Given the description of an element on the screen output the (x, y) to click on. 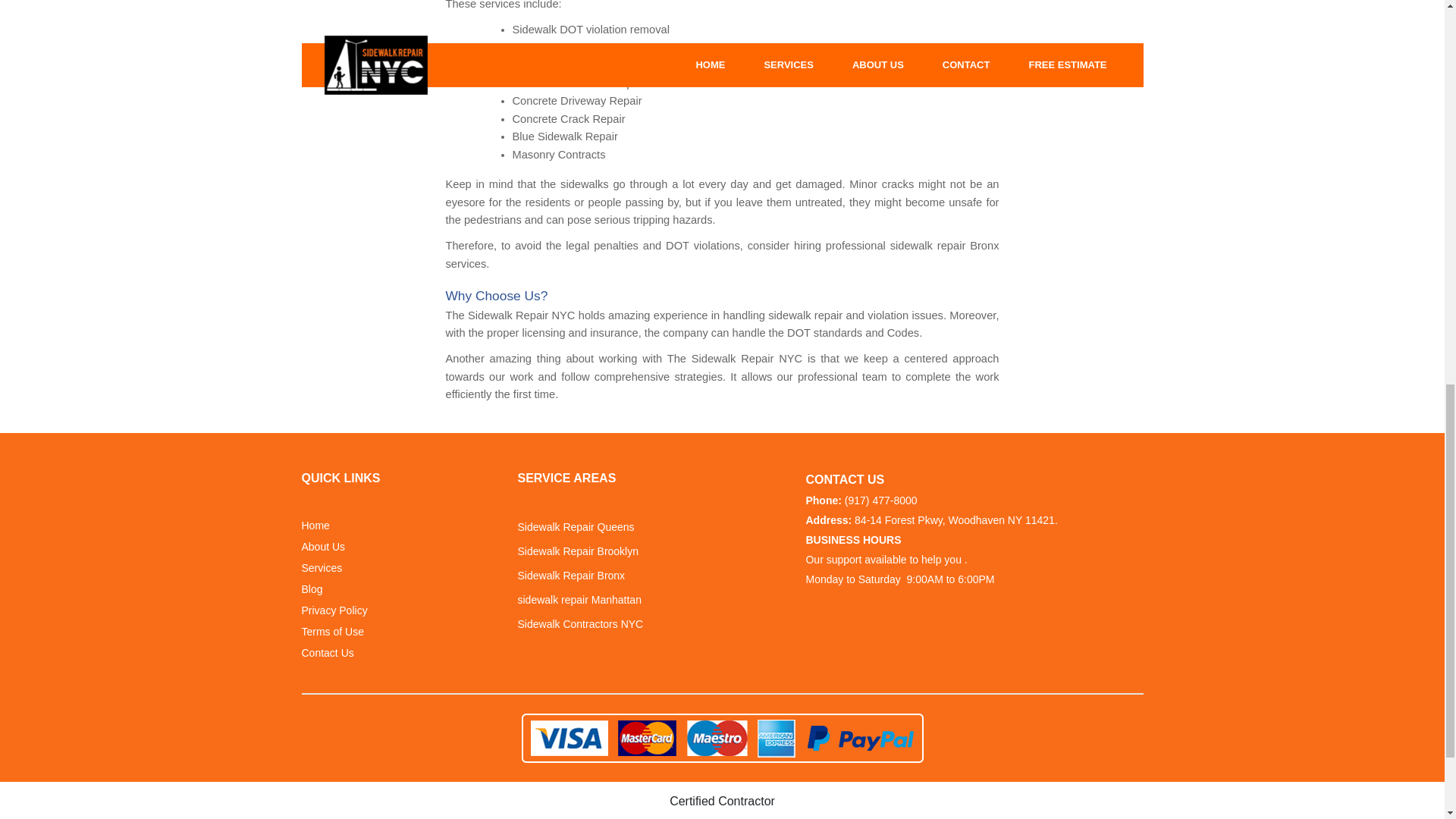
Sidewalk Repair Queens (574, 527)
About Us (323, 546)
Privacy Policy (334, 610)
Terms of Use (332, 631)
Sidewalk Repair Bronx (570, 575)
Home (315, 525)
Blog (312, 589)
sidewalk repair Manhattan (578, 600)
Services (321, 568)
Contact Us (327, 652)
84-14 Forest Pkwy, Woodhaven NY 11421 (954, 520)
Sidewalk Repair Brooklyn (577, 551)
Sidewalk Contractors NYC (579, 624)
